Given the description of an element on the screen output the (x, y) to click on. 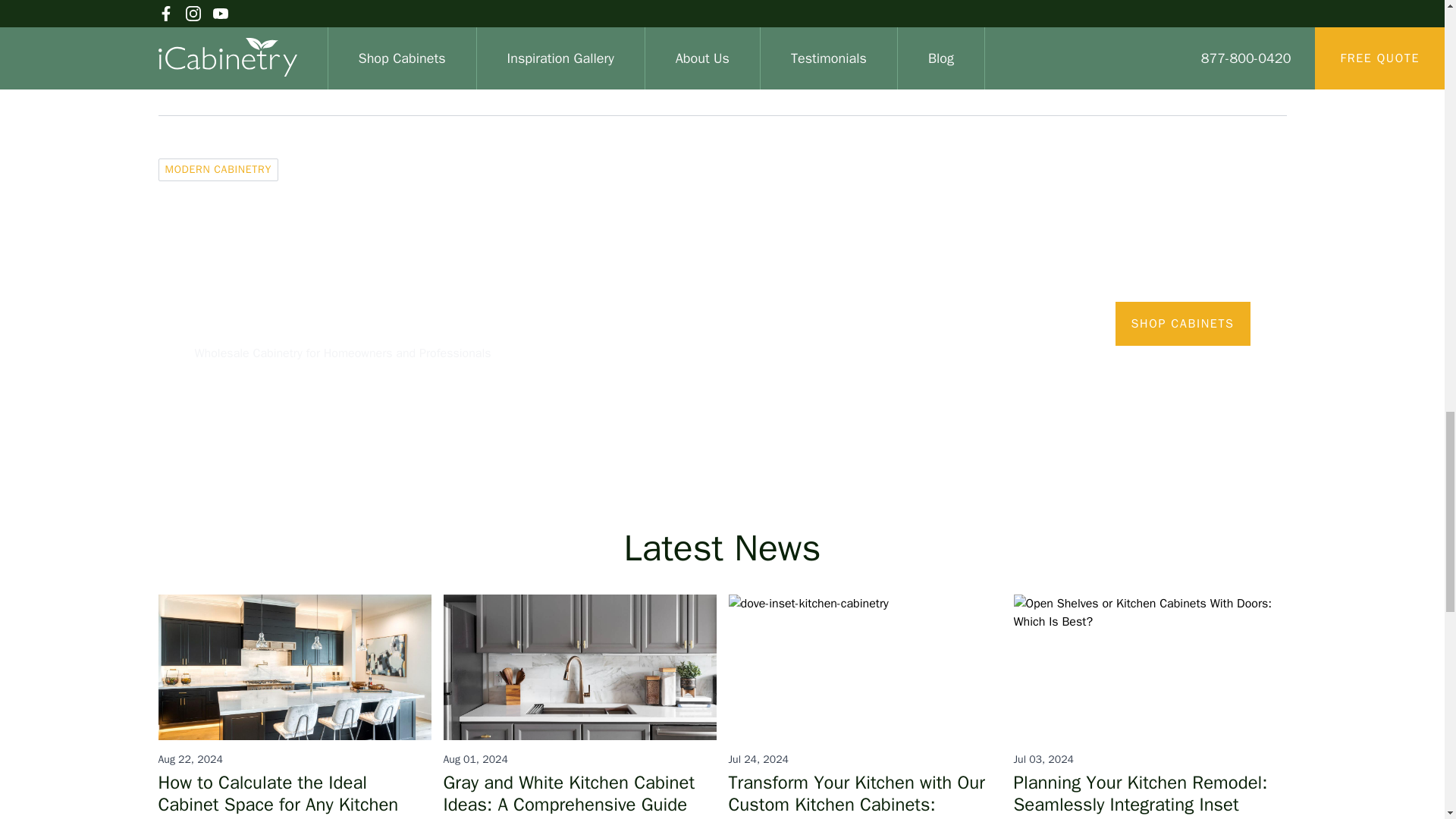
SHOP CABINETS (1182, 323)
MODERN CABINETRY (217, 169)
semi-custom cabinet manufacturers (740, 48)
